Given the description of an element on the screen output the (x, y) to click on. 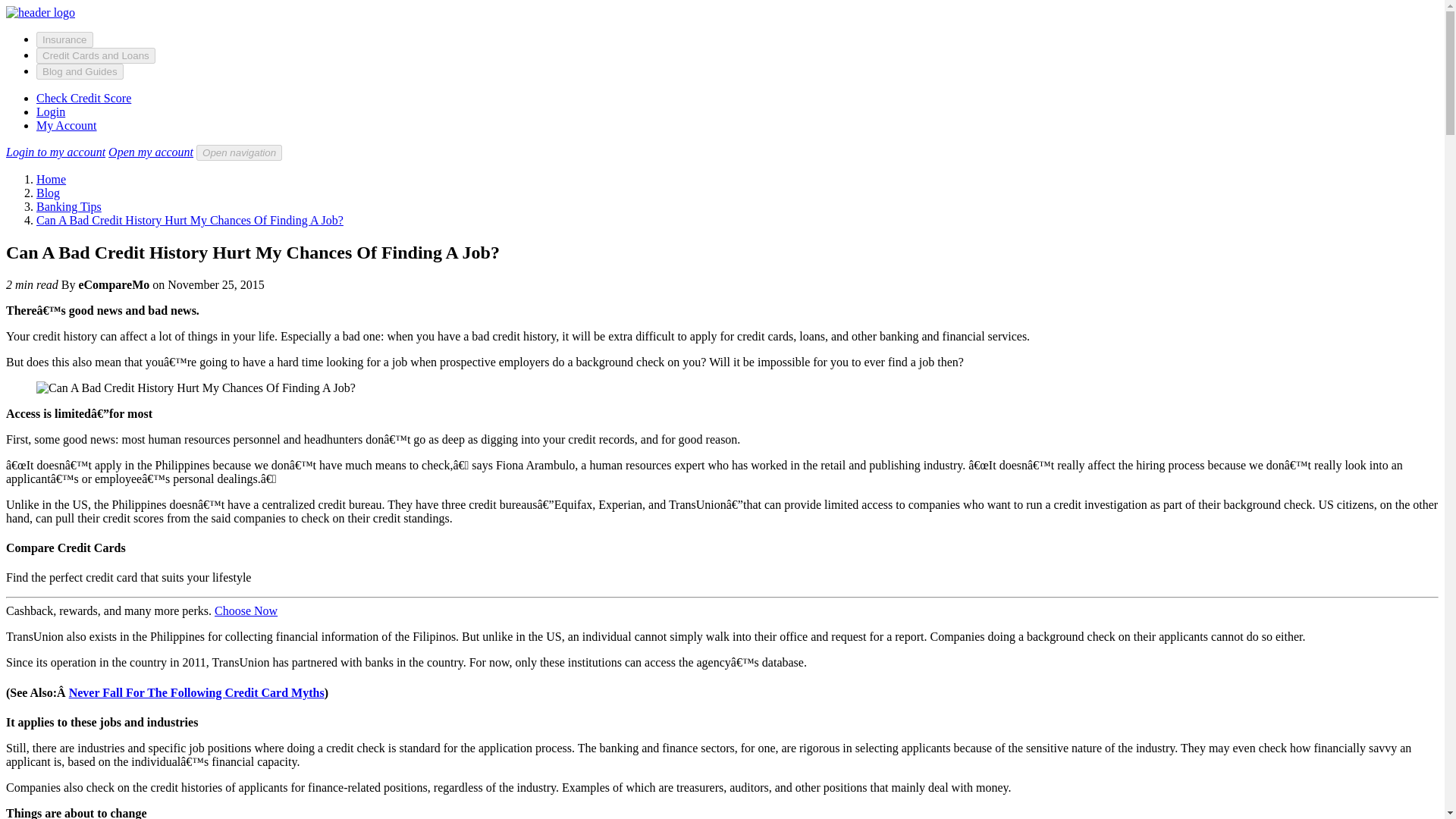
Can A Bad Credit History Hurt My Chances Of Finding A Job? (189, 219)
Login (50, 111)
Home (50, 178)
Credit Cards and Loans (95, 55)
Open navigation (239, 152)
Blog (47, 192)
My Account (66, 124)
Blog and Guides (79, 71)
Banking Tips (68, 205)
Choose Now (246, 610)
